Given the description of an element on the screen output the (x, y) to click on. 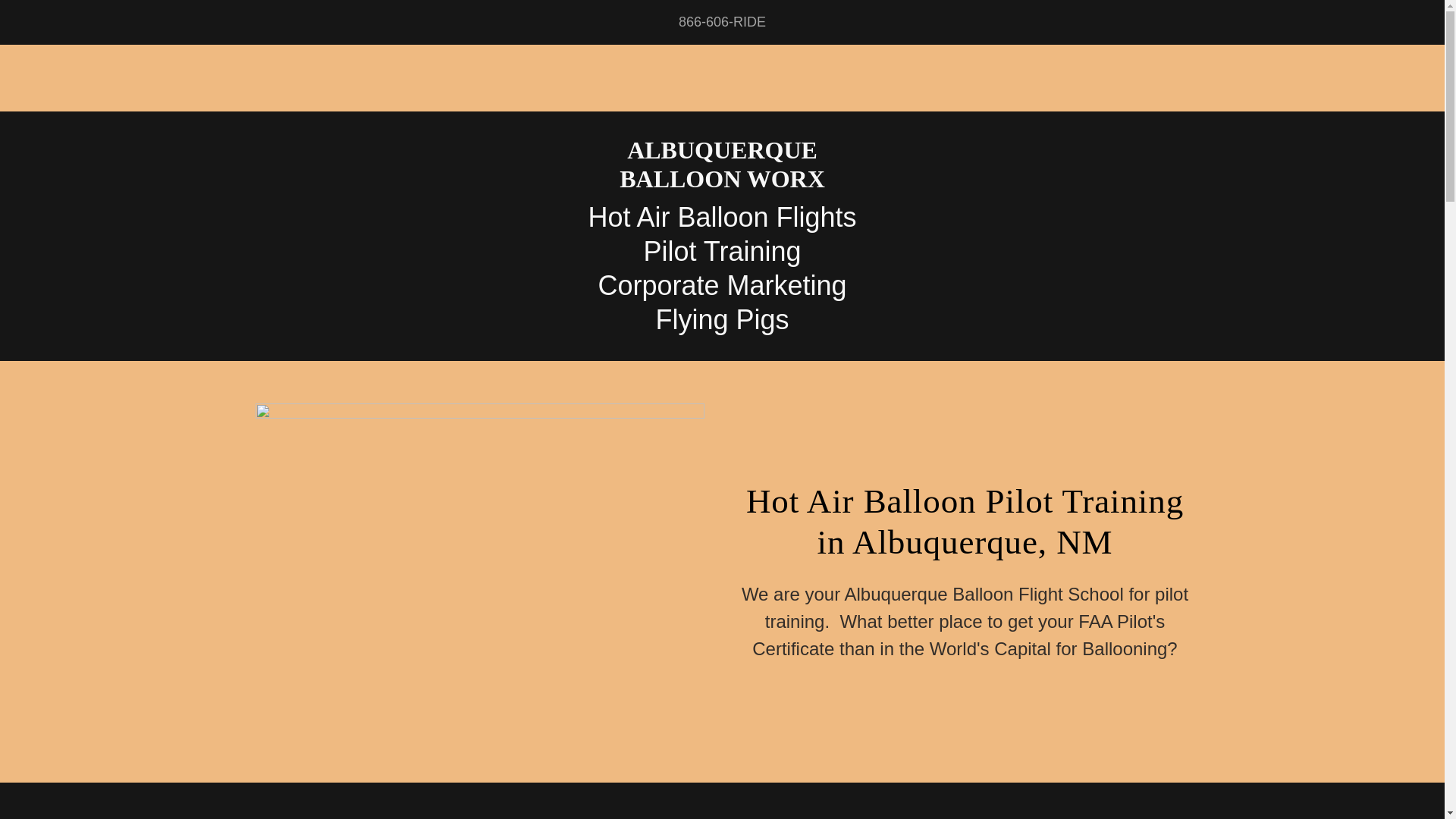
866-606 (721, 182)
